Given the description of an element on the screen output the (x, y) to click on. 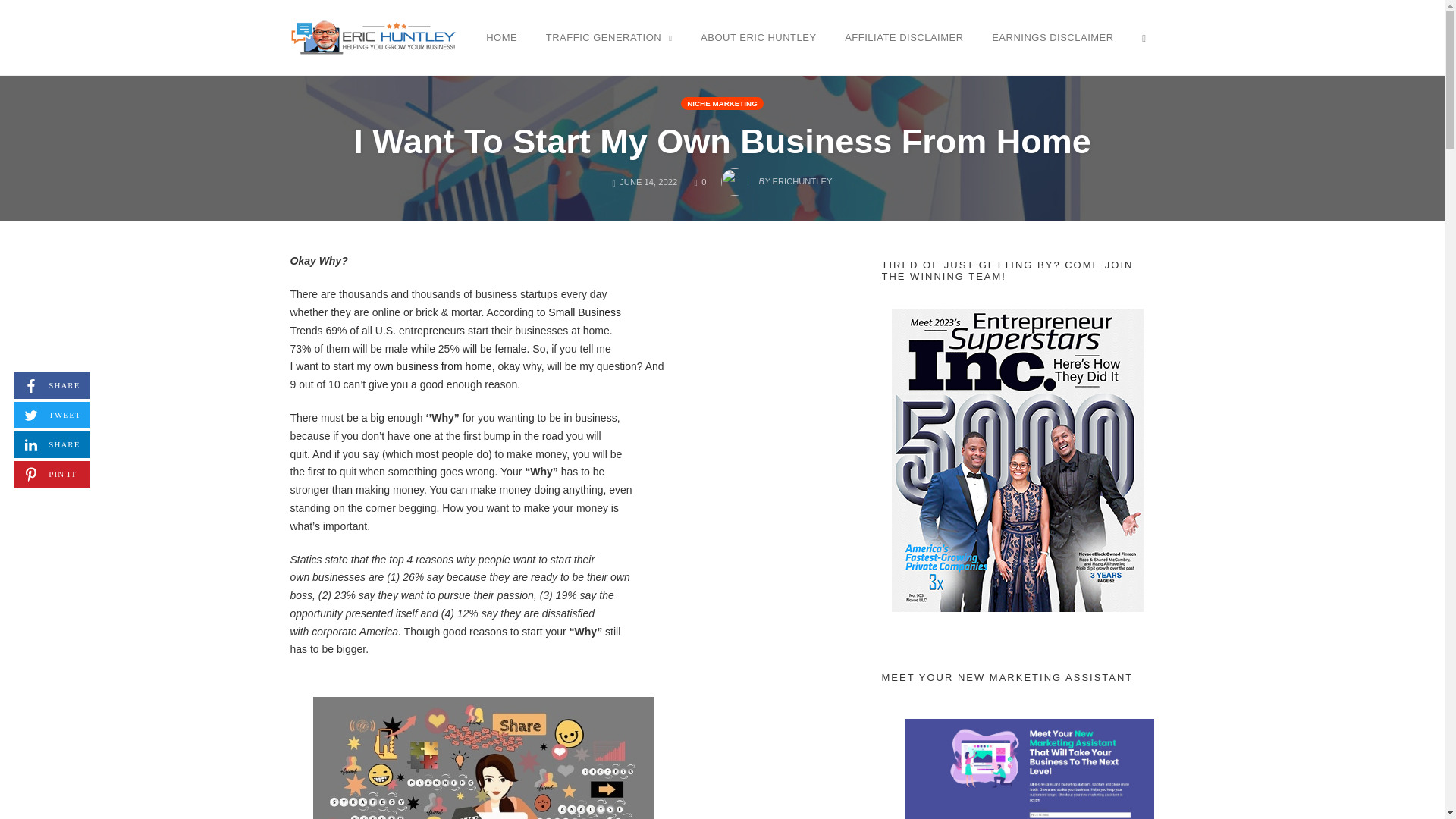
NICHE MARKETING (52, 385)
Eric Huntley's Blog (721, 103)
ABOUT ERIC HUNTLEY (52, 444)
TRAFFIC GENERATION (373, 37)
I Want To Start My Own Business From Home (700, 181)
BY ERICHUNTLEY (759, 37)
OPEN SEARCH FORM (609, 37)
